Given the description of an element on the screen output the (x, y) to click on. 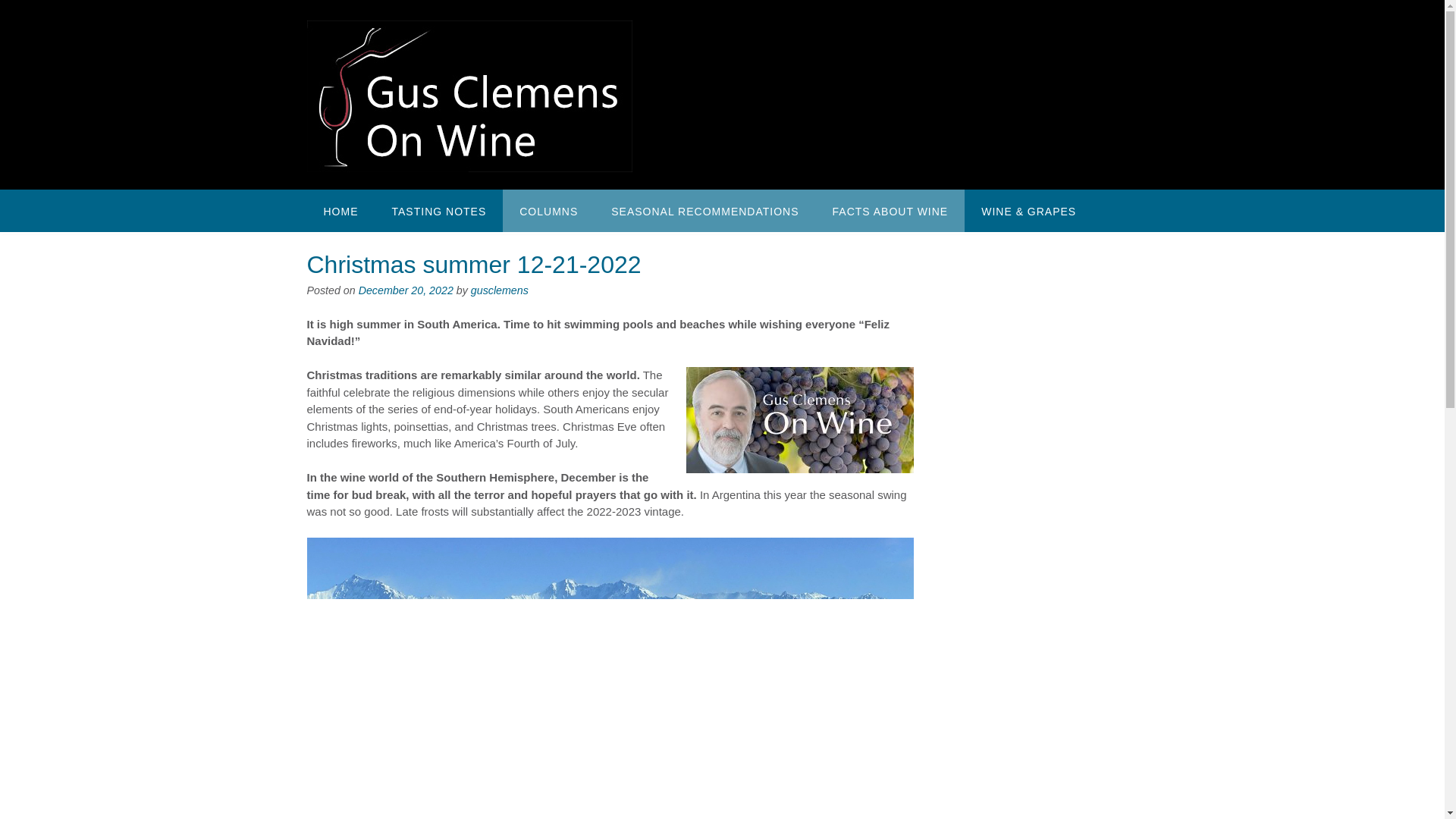
COLUMNS (548, 210)
gusclemens (499, 290)
December 20, 2022 (405, 290)
HOME (339, 210)
TASTING NOTES (438, 210)
SEASONAL RECOMMENDATIONS (704, 210)
FACTS ABOUT WINE (890, 210)
